Given the description of an element on the screen output the (x, y) to click on. 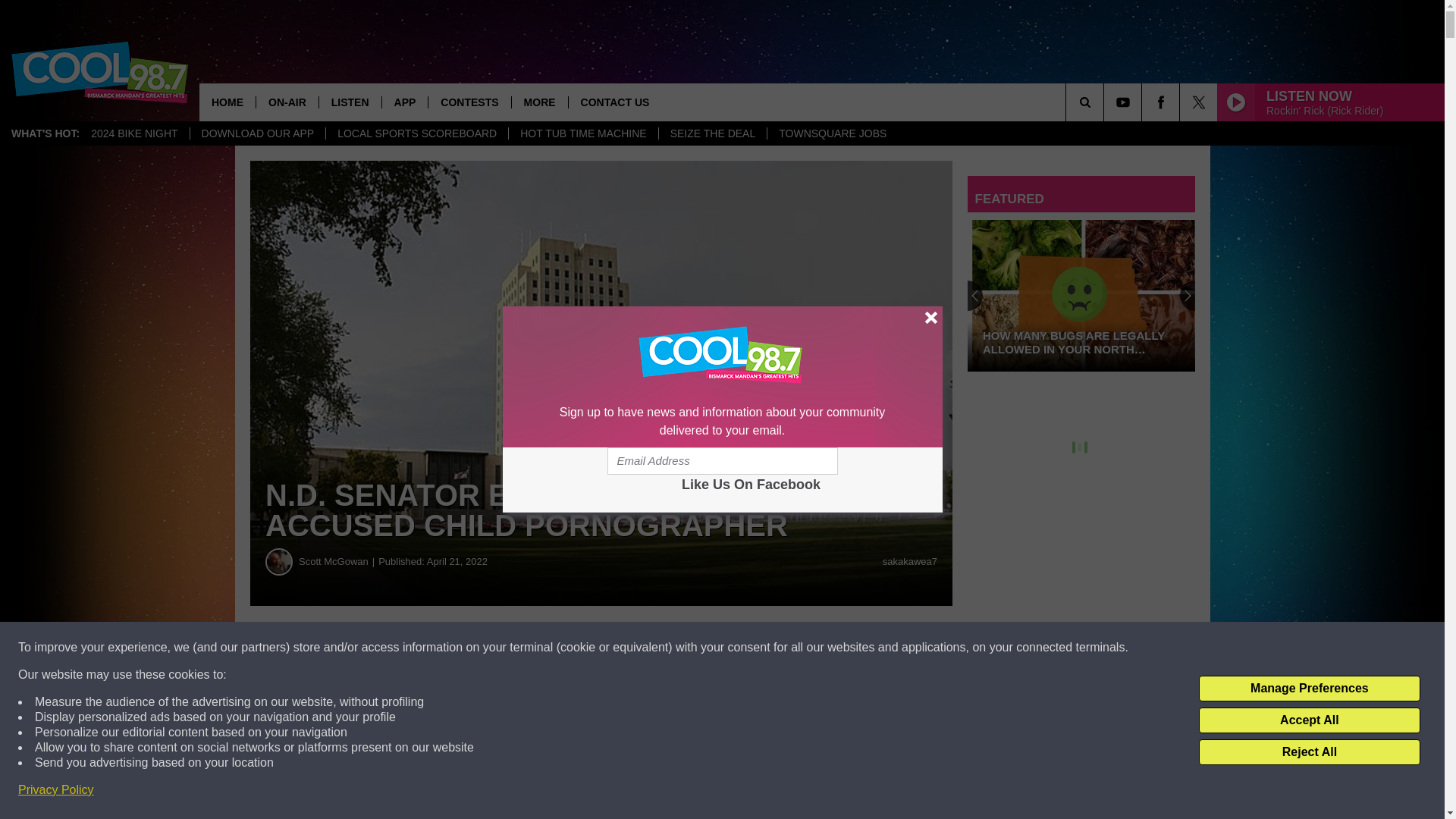
DOWNLOAD OUR APP (257, 133)
LISTEN (349, 102)
Email Address (722, 461)
LOCAL SPORTS SCOREBOARD (416, 133)
Share on Facebook (460, 647)
ON-AIR (287, 102)
HOME (227, 102)
Privacy Policy (55, 789)
HOT TUB TIME MACHINE (583, 133)
2024 BIKE NIGHT (134, 133)
SEARCH (1106, 102)
MORE (539, 102)
Reject All (1309, 751)
SEARCH (1106, 102)
Accept All (1309, 720)
